Given the description of an element on the screen output the (x, y) to click on. 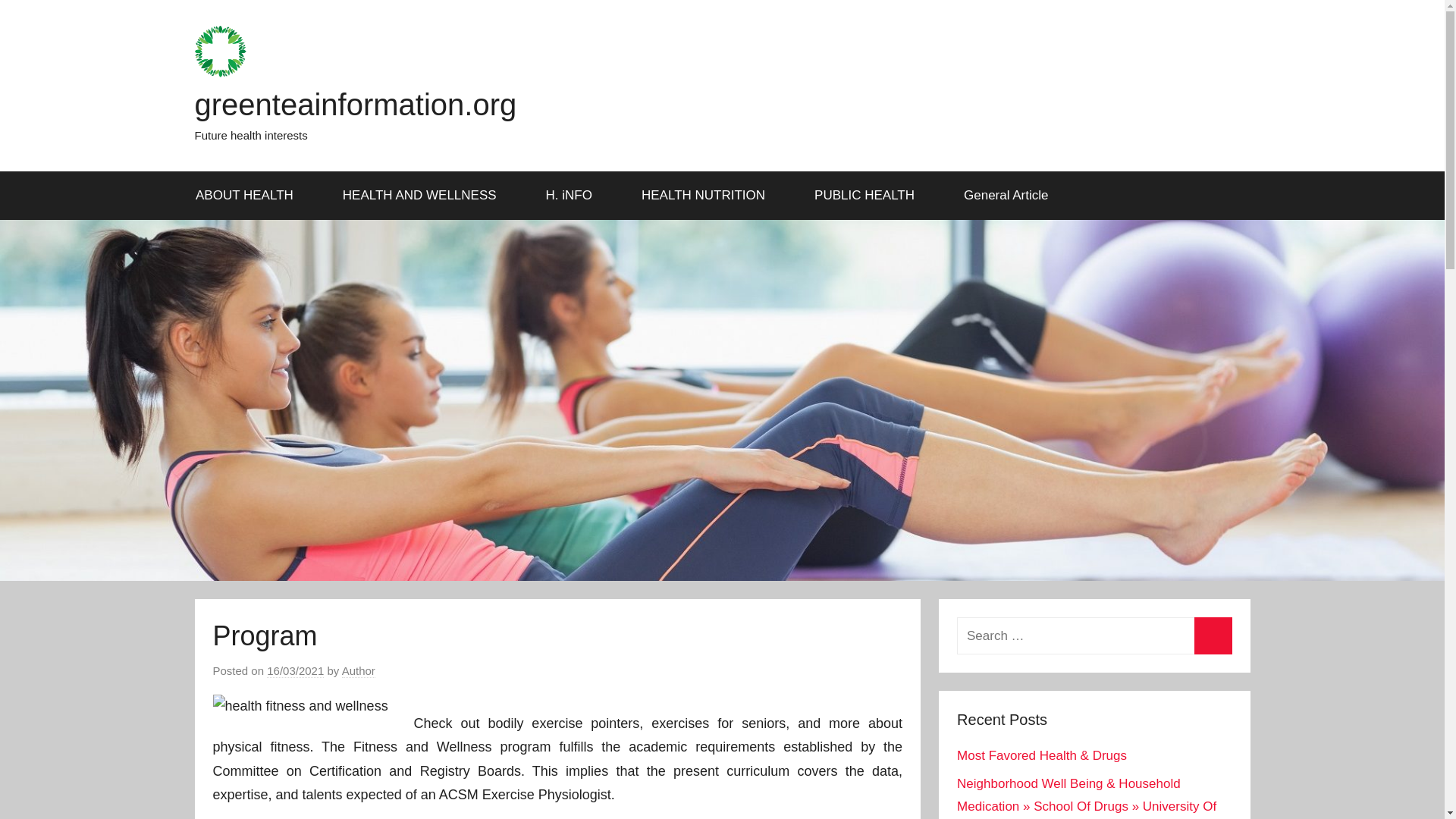
General Article (1006, 195)
greenteainformation.org (354, 104)
View all posts by Author (358, 671)
Author (358, 671)
ABOUT HEALTH (249, 195)
HEALTH NUTRITION (707, 195)
PUBLIC HEALTH (869, 195)
H. iNFO (573, 195)
HEALTH AND WELLNESS (424, 195)
Search for: (1093, 635)
